Given the description of an element on the screen output the (x, y) to click on. 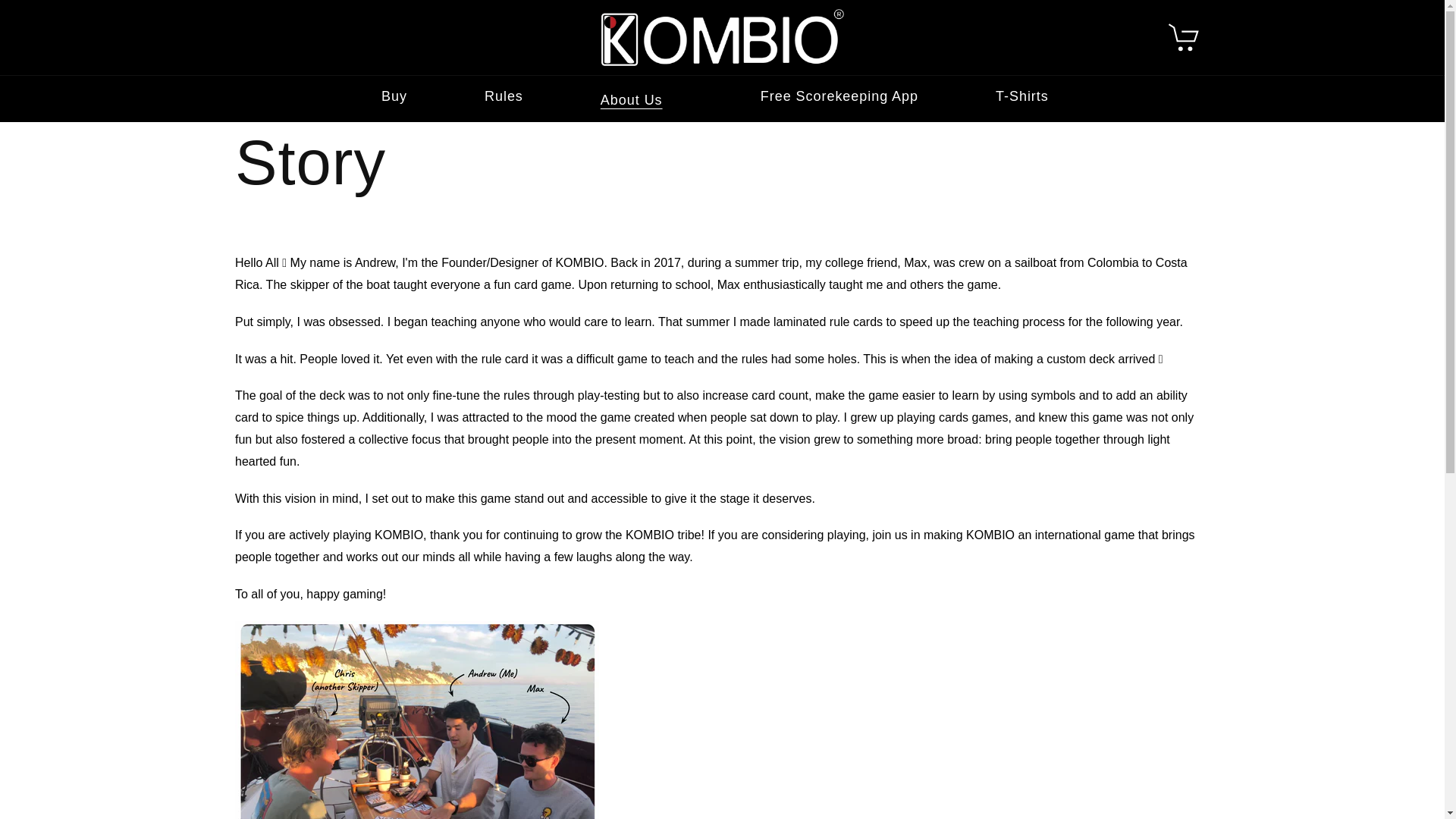
T-Shirts (1022, 96)
Buy (394, 96)
Skip to content (72, 27)
Rules (503, 96)
Free Scorekeeping App (839, 96)
